Given the description of an element on the screen output the (x, y) to click on. 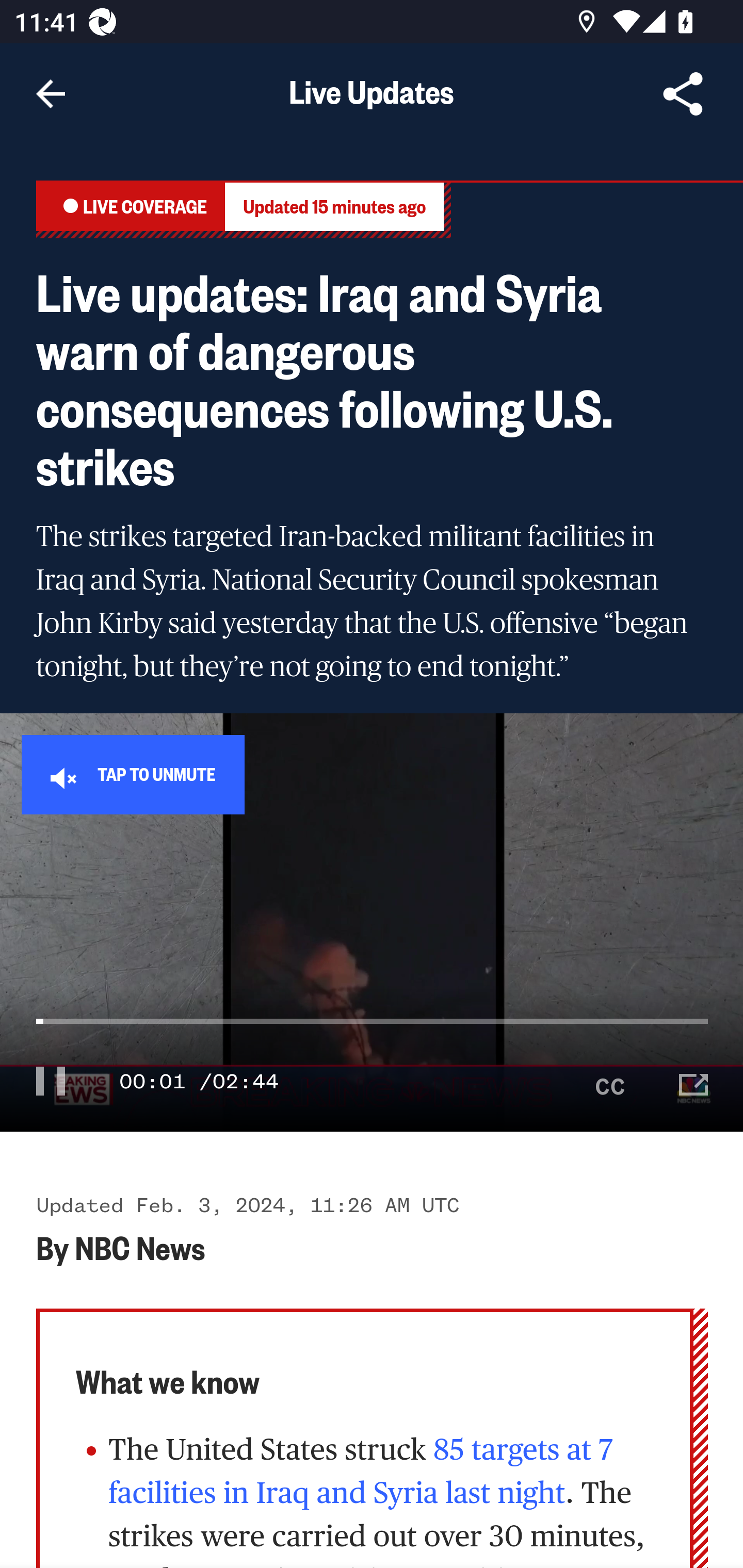
Navigate up (50, 93)
Share Article, button (683, 94)
 TAP TO UNMUTE (133, 773)
indeterminate (372, 1039)
 (50, 1080)
 (610, 1080)
 (694, 1080)
